Given the description of an element on the screen output the (x, y) to click on. 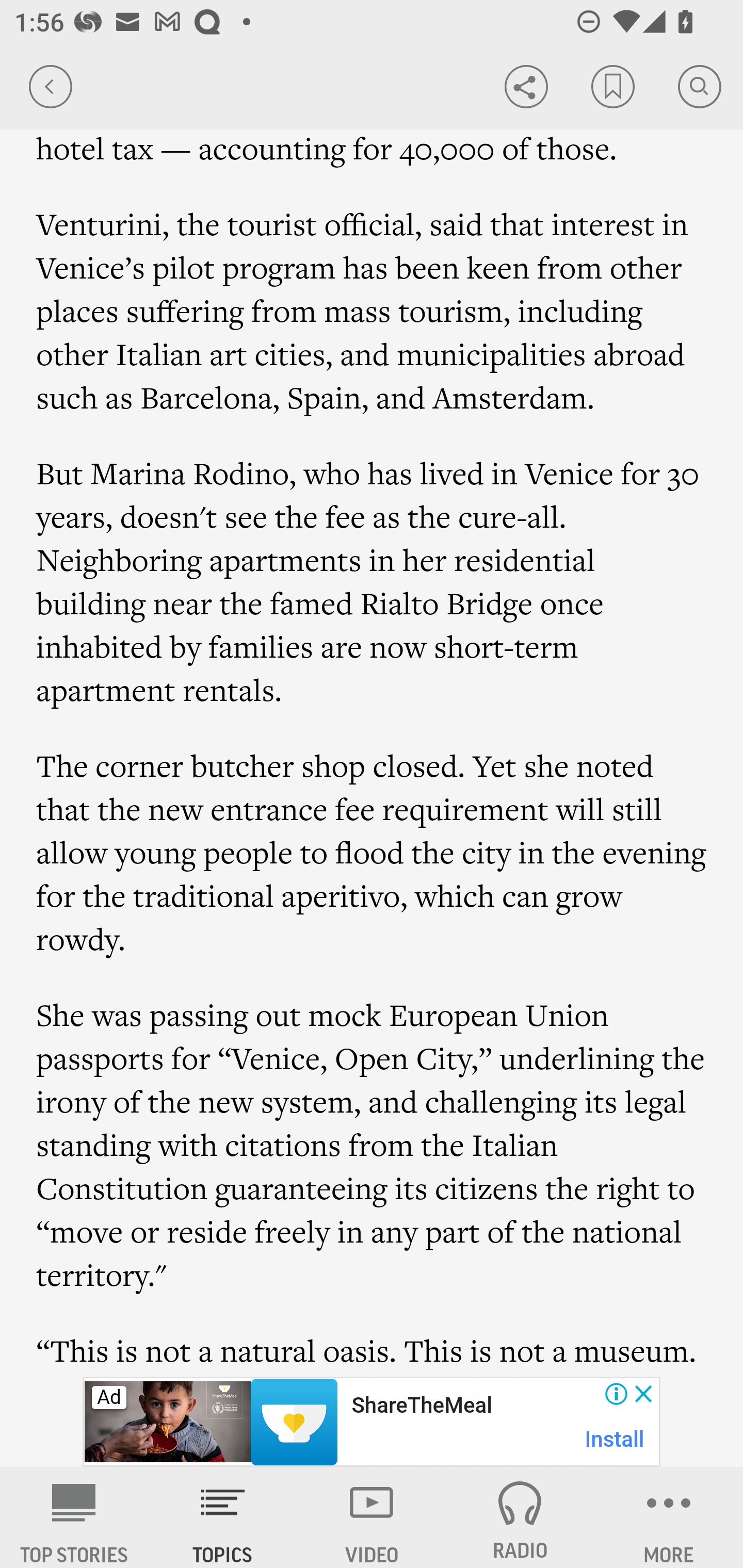
ShareTheMeal (420, 1405)
Install (614, 1438)
AP News TOP STORIES (74, 1517)
TOPICS (222, 1517)
VIDEO (371, 1517)
RADIO (519, 1517)
MORE (668, 1517)
